Given the description of an element on the screen output the (x, y) to click on. 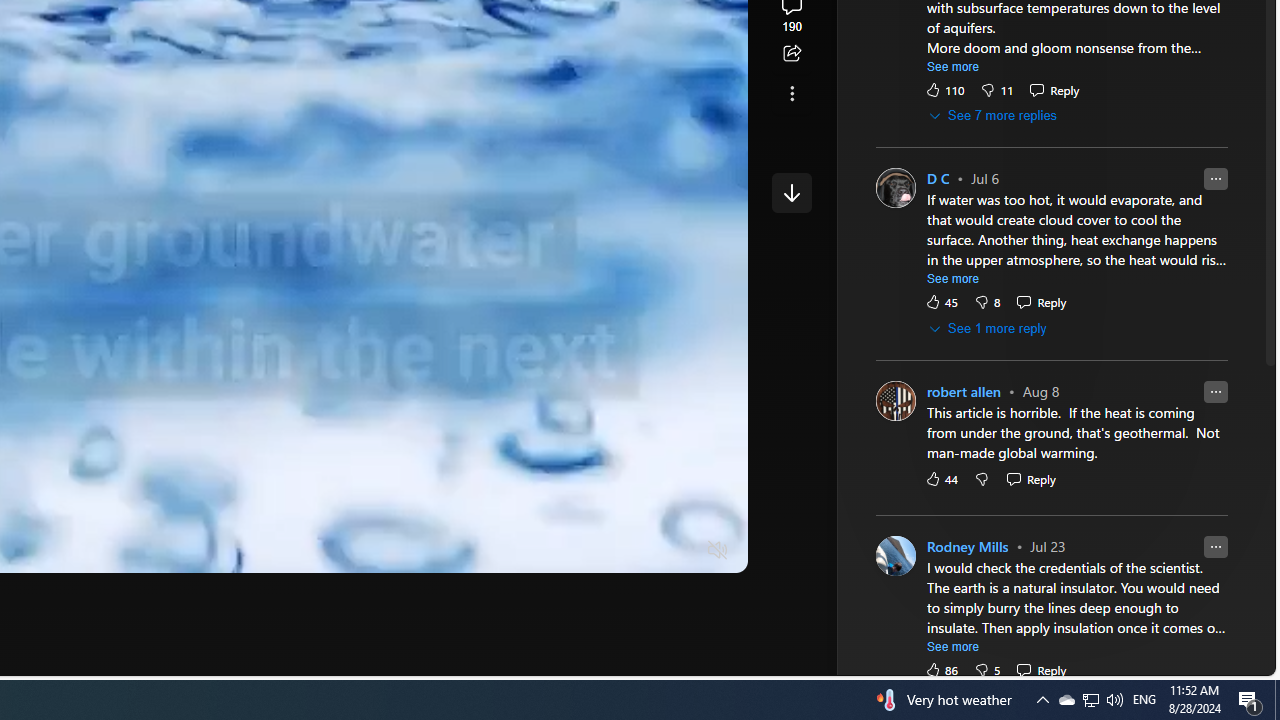
44 Like (941, 479)
Unmute (717, 550)
Profile Picture (895, 555)
86 Like (941, 670)
Dislike (986, 670)
Class: control (791, 192)
Profile Picture (895, 555)
ABC News (777, 12)
Ad (766, 337)
See 1 more reply (989, 329)
